Given the description of an element on the screen output the (x, y) to click on. 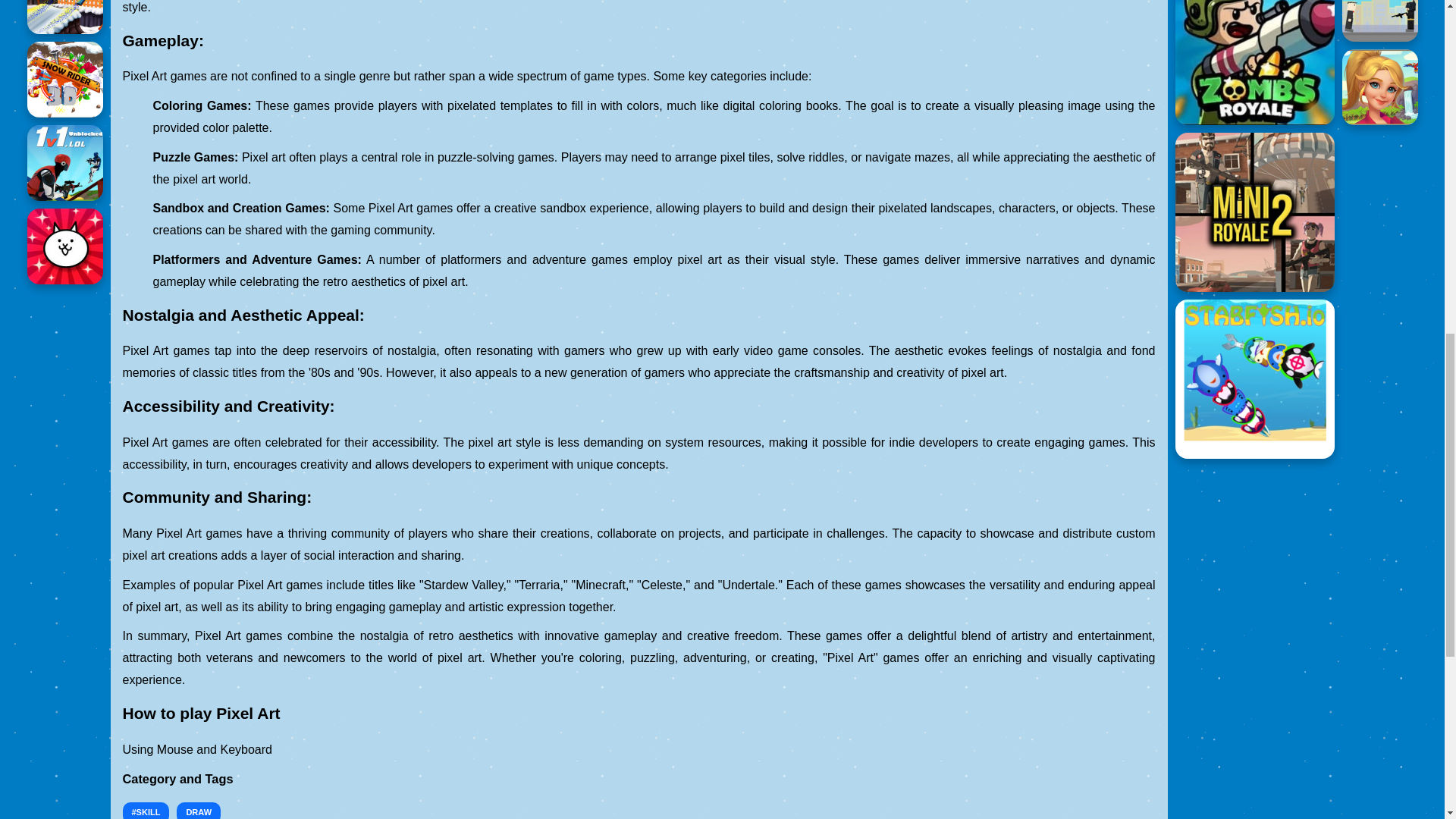
DRAW (198, 810)
Snow Rider 3D Unblocked (65, 79)
Snow Rider 3D Unblocked 66 (65, 17)
The Battle Cats (65, 246)
1v1 LOL Unblocked (65, 162)
